Given the description of an element on the screen output the (x, y) to click on. 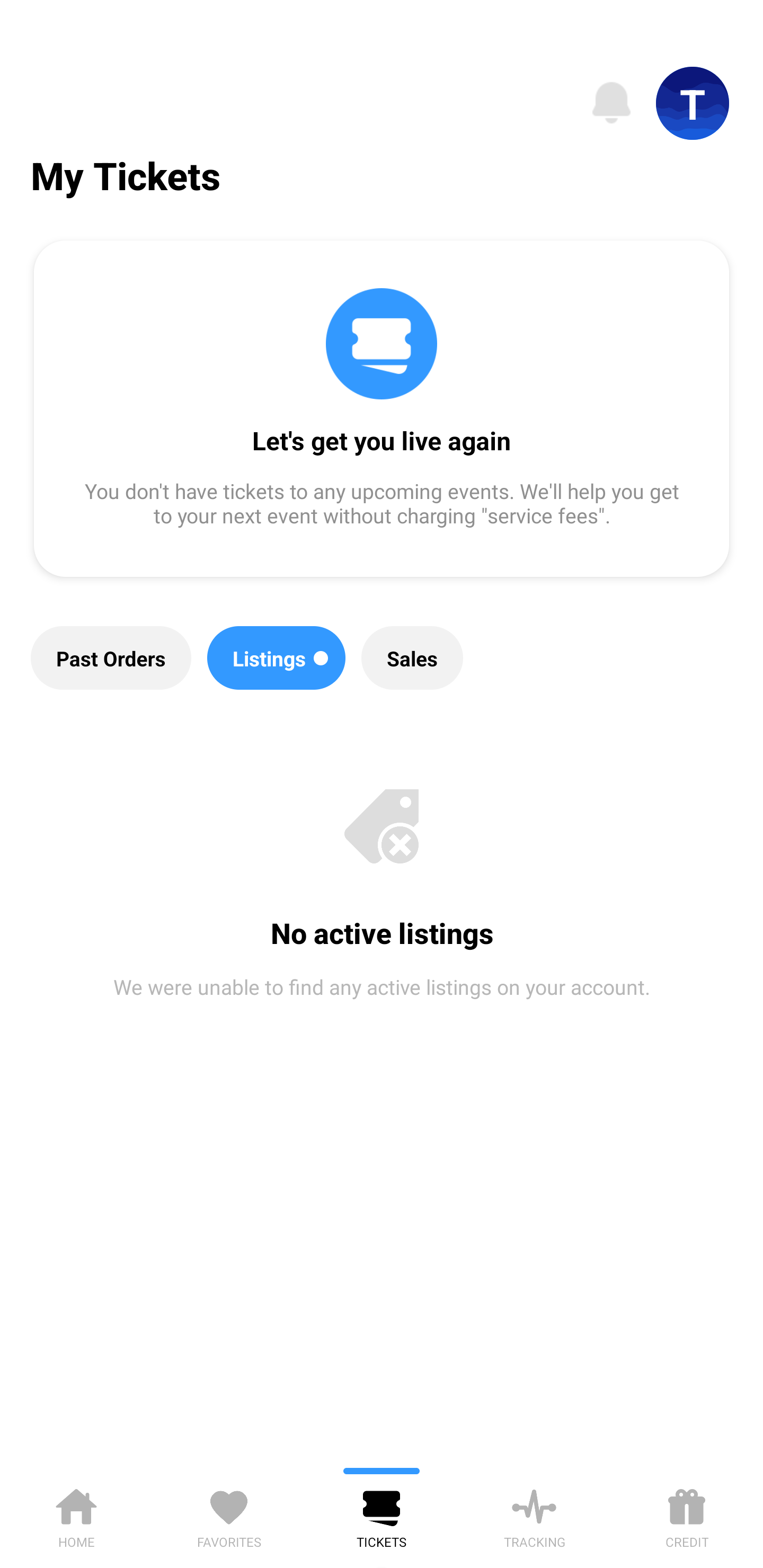
T (692, 103)
Past Orders (110, 657)
Listings (276, 657)
Sales (412, 657)
HOME (76, 1515)
FAVORITES (228, 1515)
TICKETS (381, 1515)
TRACKING (533, 1515)
CREDIT (686, 1515)
